Given the description of an element on the screen output the (x, y) to click on. 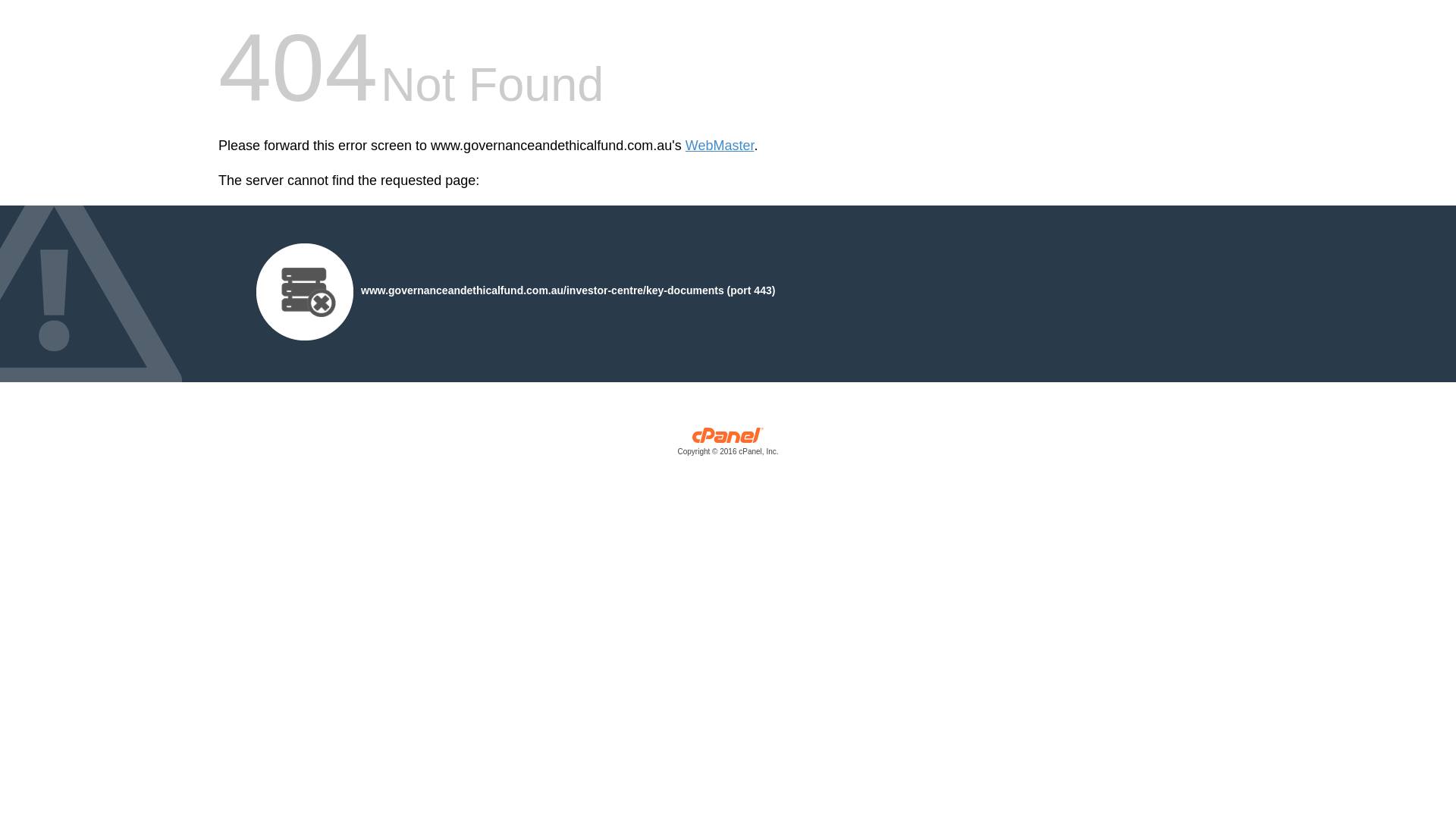
WebMaster Element type: text (719, 145)
